Given the description of an element on the screen output the (x, y) to click on. 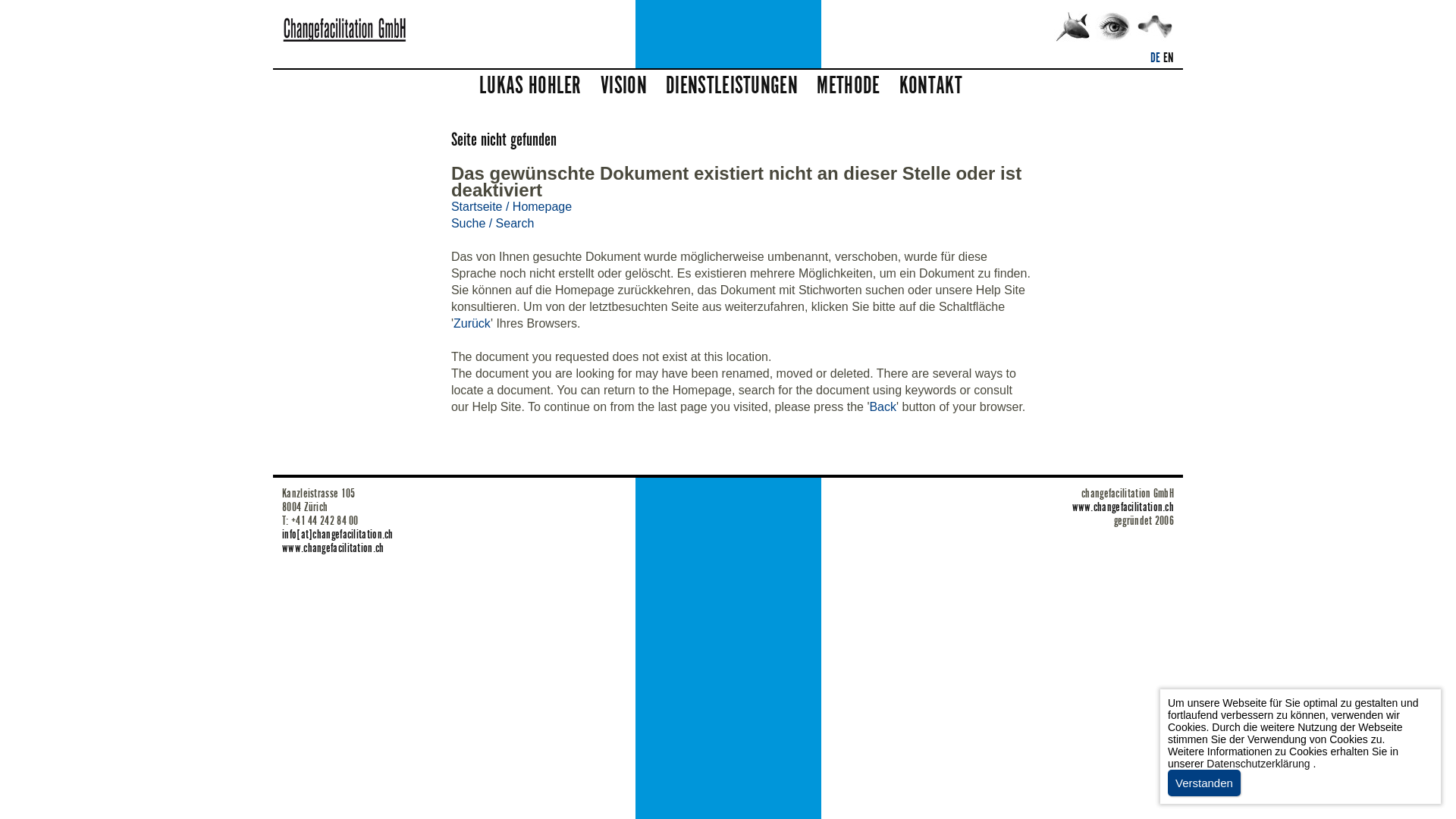
METHODE Element type: text (847, 85)
Grundkraft Element type: hover (1154, 26)
www.changefacilitation.ch Element type: text (333, 548)
VISION Element type: text (623, 85)
KONTAKT Element type: text (930, 85)
Back Element type: text (882, 406)
LUKAS HOHLER Element type: text (530, 85)
info[at]changefacilitation.ch Element type: text (337, 534)
Suche / Search Element type: text (492, 222)
EN Element type: text (1168, 57)
DIENSTLEISTUNGEN Element type: text (731, 85)
www.changefacilitation.ch Element type: text (1123, 507)
Verstanden Element type: text (1203, 782)
DE Element type: text (1155, 57)
Schulkraft Element type: hover (1113, 26)
Startseite / Homepage Element type: text (511, 206)
Changefacilitation GmbH Element type: hover (344, 29)
Changefacilitation GmbH Element type: hover (1073, 26)
